Given the description of an element on the screen output the (x, y) to click on. 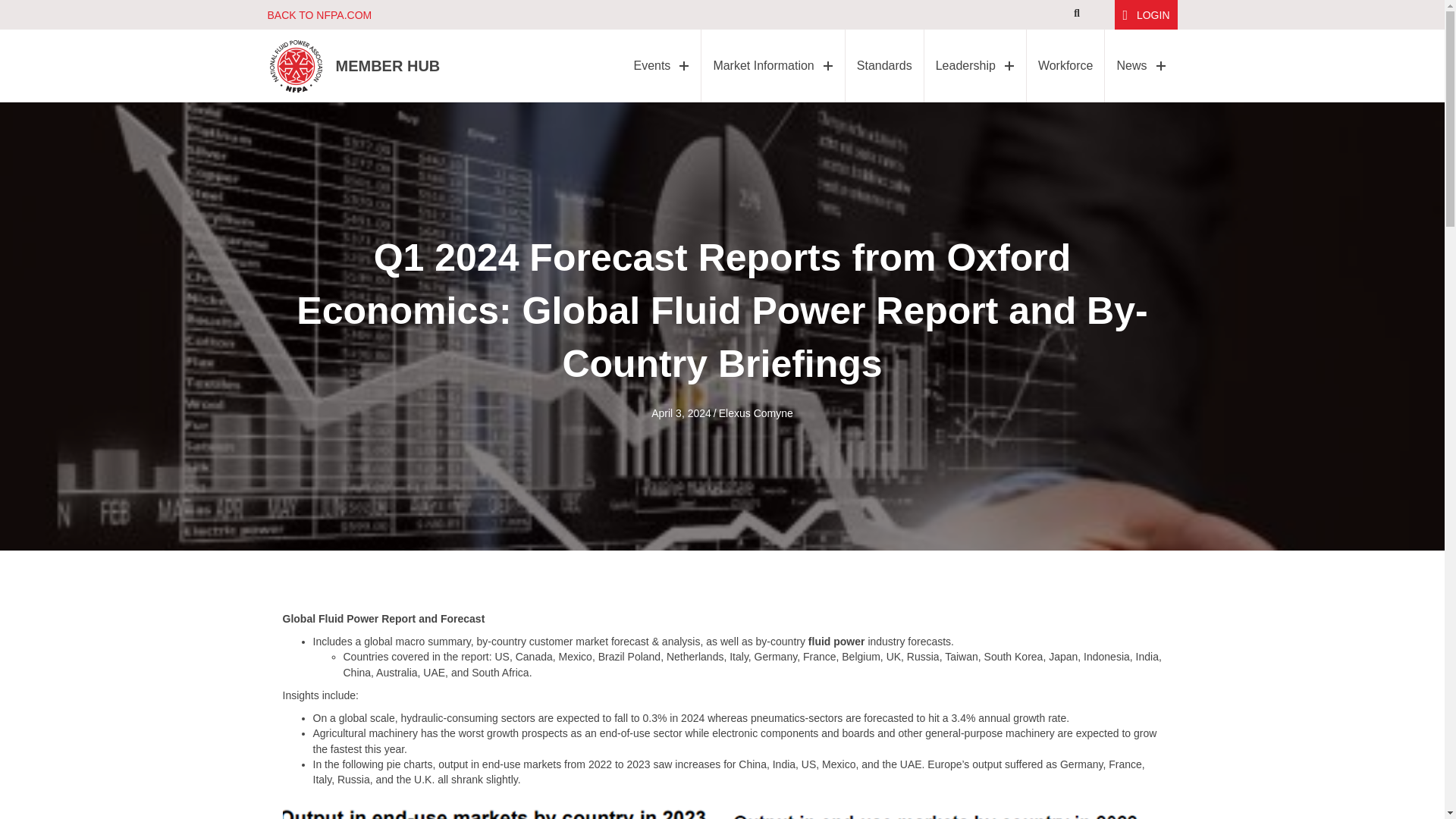
News (1140, 65)
BACK TO NFPA.COM (318, 15)
Workforce (1065, 65)
Elexus Comyne (756, 413)
LOGIN (1145, 14)
Market Information (772, 65)
Events (660, 65)
Leadership (975, 65)
Standards (884, 65)
